Given the description of an element on the screen output the (x, y) to click on. 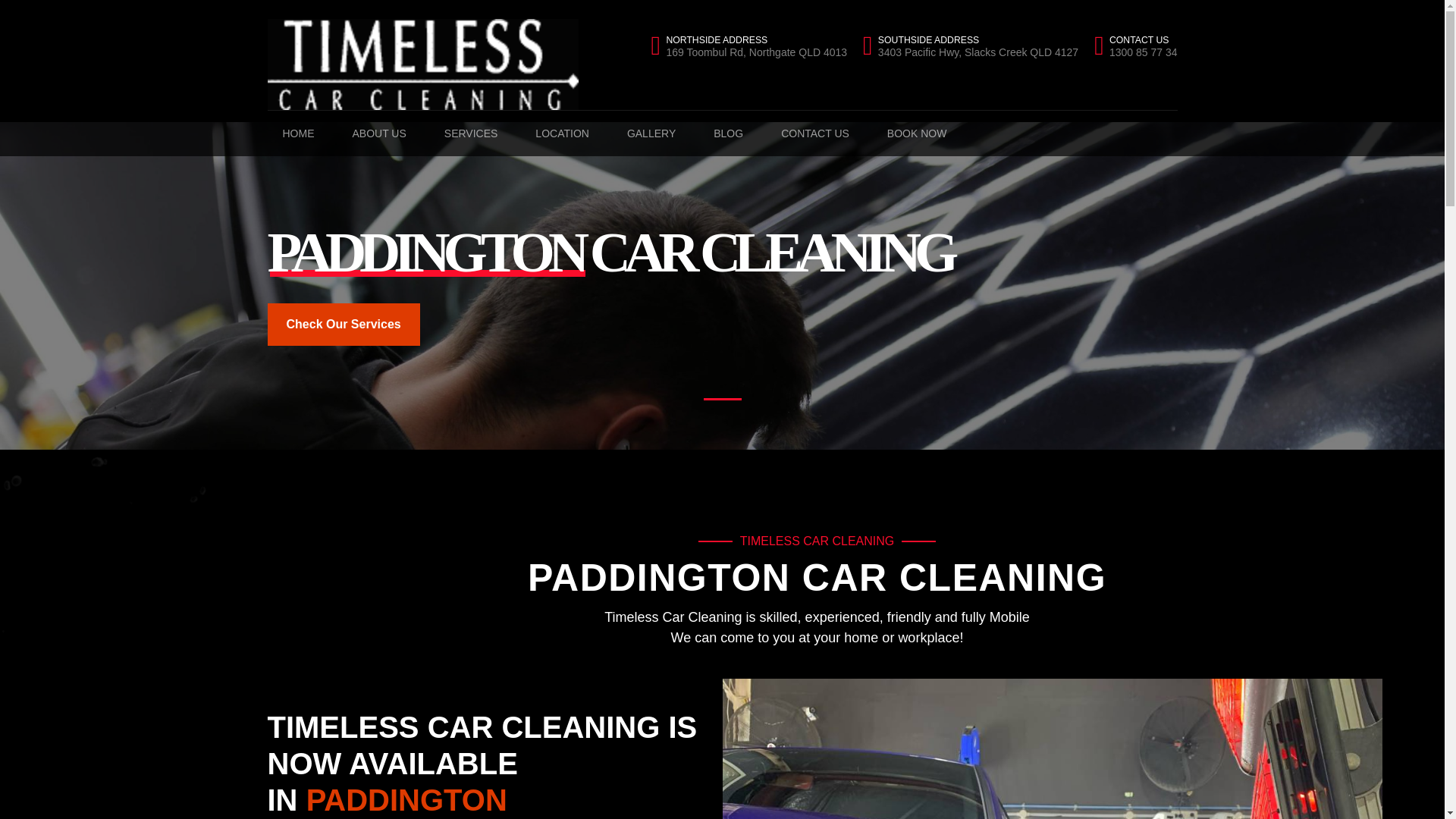
BLOG (1135, 44)
BOOK NOW (728, 133)
CONTACT US (917, 133)
Check Our Services (970, 44)
PADDINGTON (814, 133)
SERVICES (342, 324)
LOCATION (405, 799)
1 (471, 133)
Check Our Services (561, 133)
GALLERY (721, 399)
HOME (342, 324)
ABOUT US (650, 133)
